Given the description of an element on the screen output the (x, y) to click on. 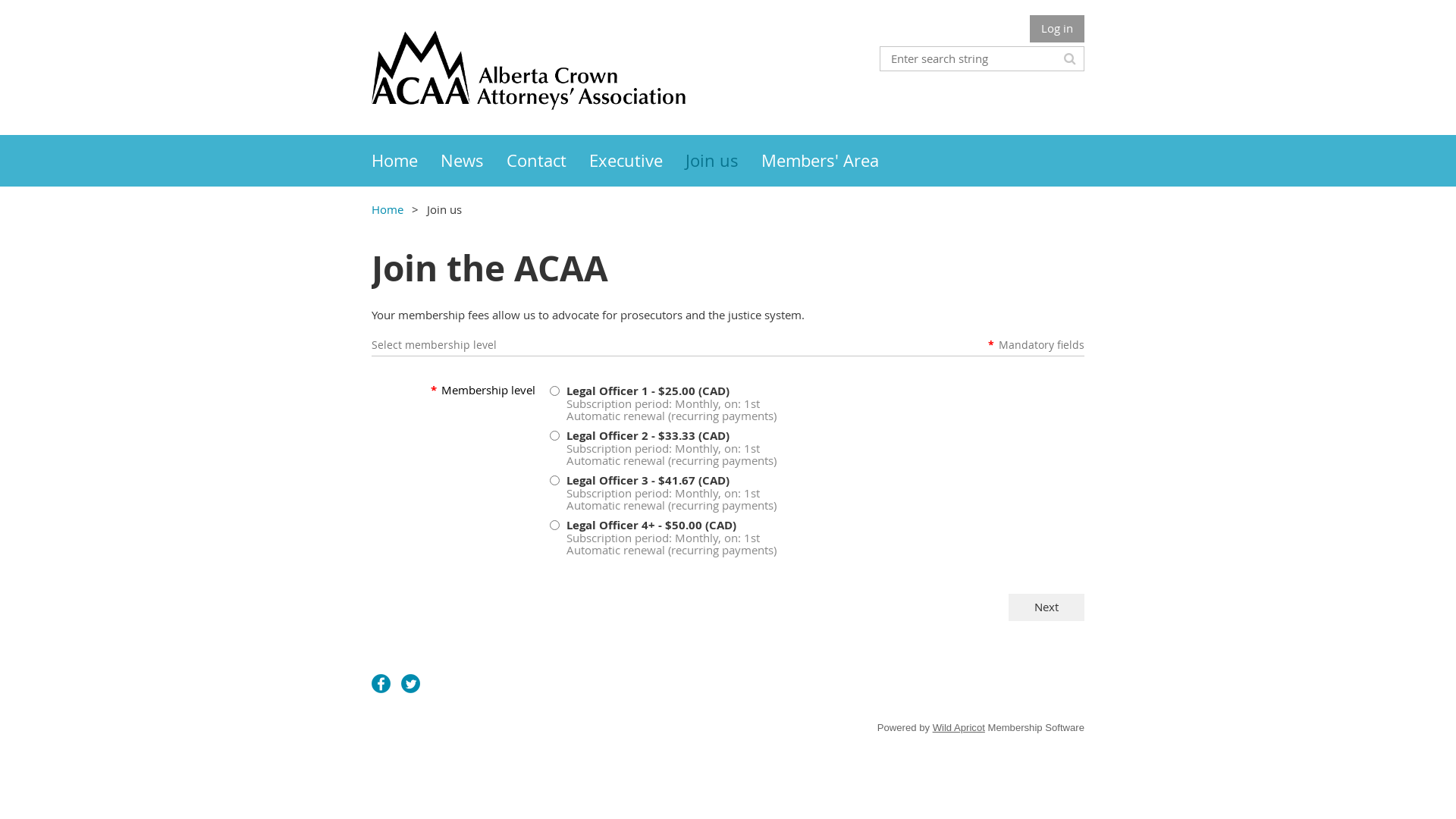
Contact Element type: text (547, 160)
Twitter Element type: hover (410, 683)
Executive Element type: text (637, 160)
Join us Element type: text (723, 160)
Wild Apricot Element type: text (958, 727)
Members' Area Element type: text (831, 160)
Log in Element type: text (1056, 28)
Home Element type: text (405, 160)
Home Element type: text (387, 208)
News Element type: text (473, 160)
Next Element type: text (1046, 607)
Facebook Element type: hover (380, 683)
